Given the description of an element on the screen output the (x, y) to click on. 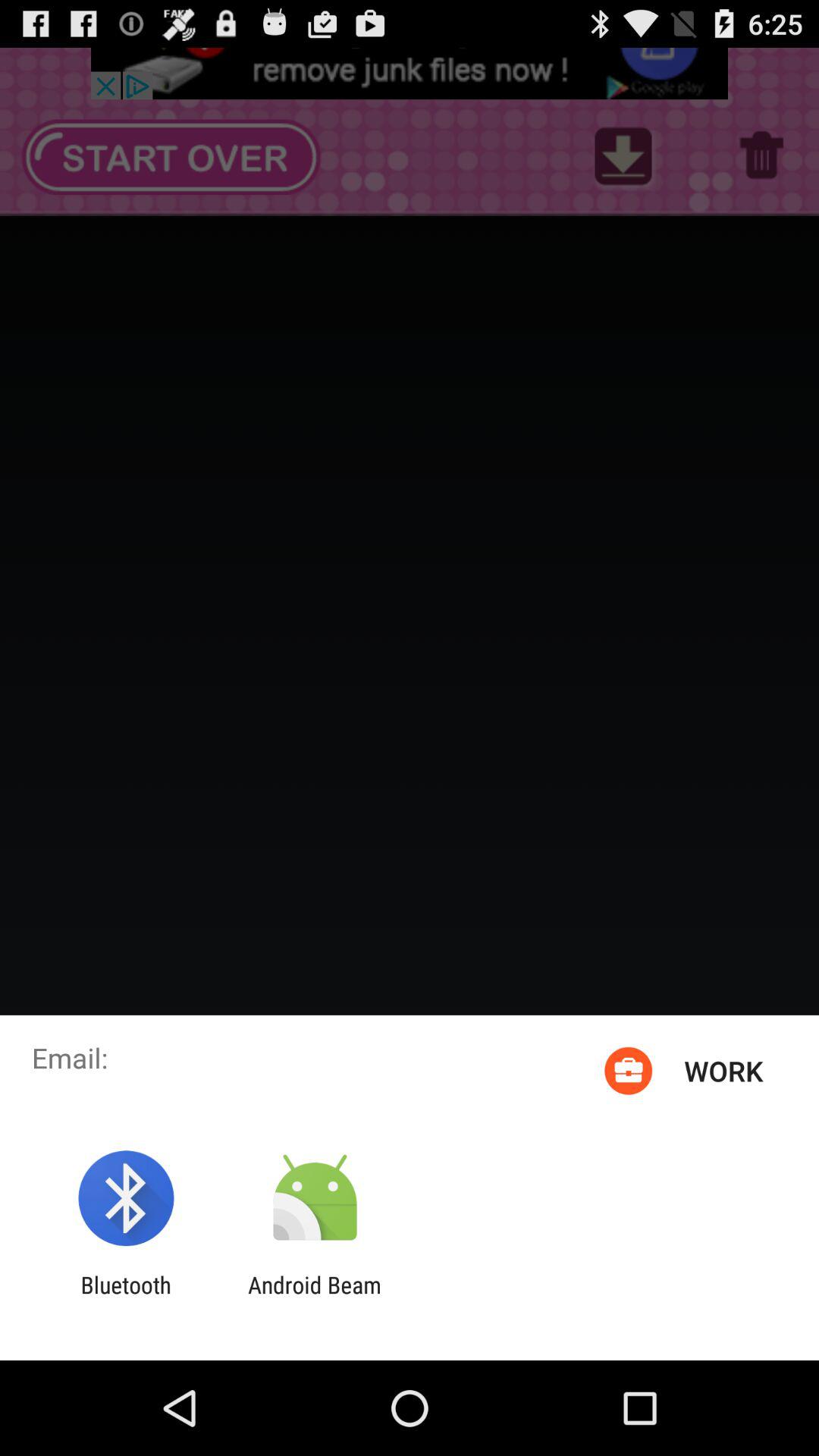
click app to the right of the bluetooth app (314, 1298)
